Given the description of an element on the screen output the (x, y) to click on. 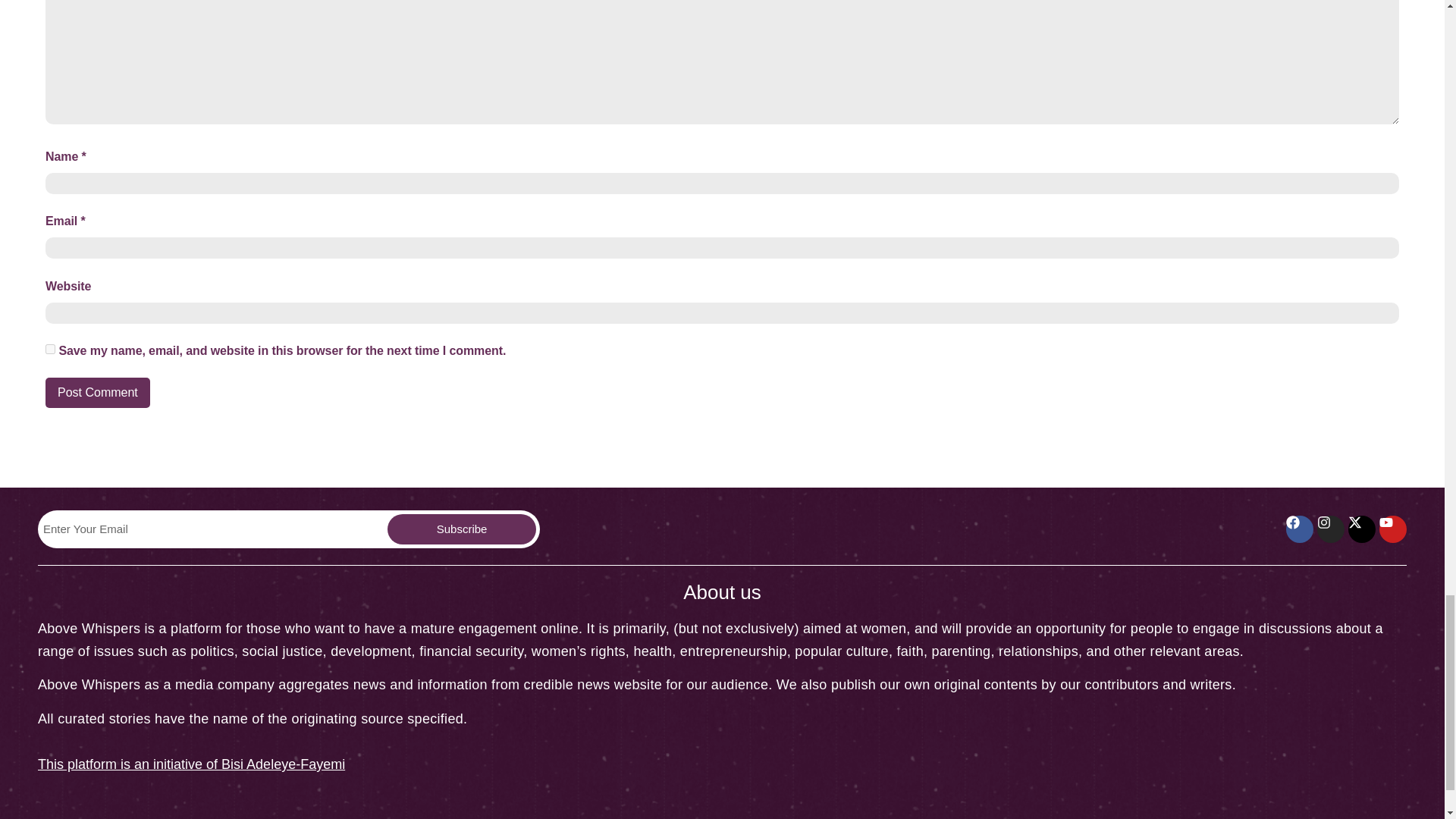
Post Comment (97, 392)
yes (50, 348)
